Given the description of an element on the screen output the (x, y) to click on. 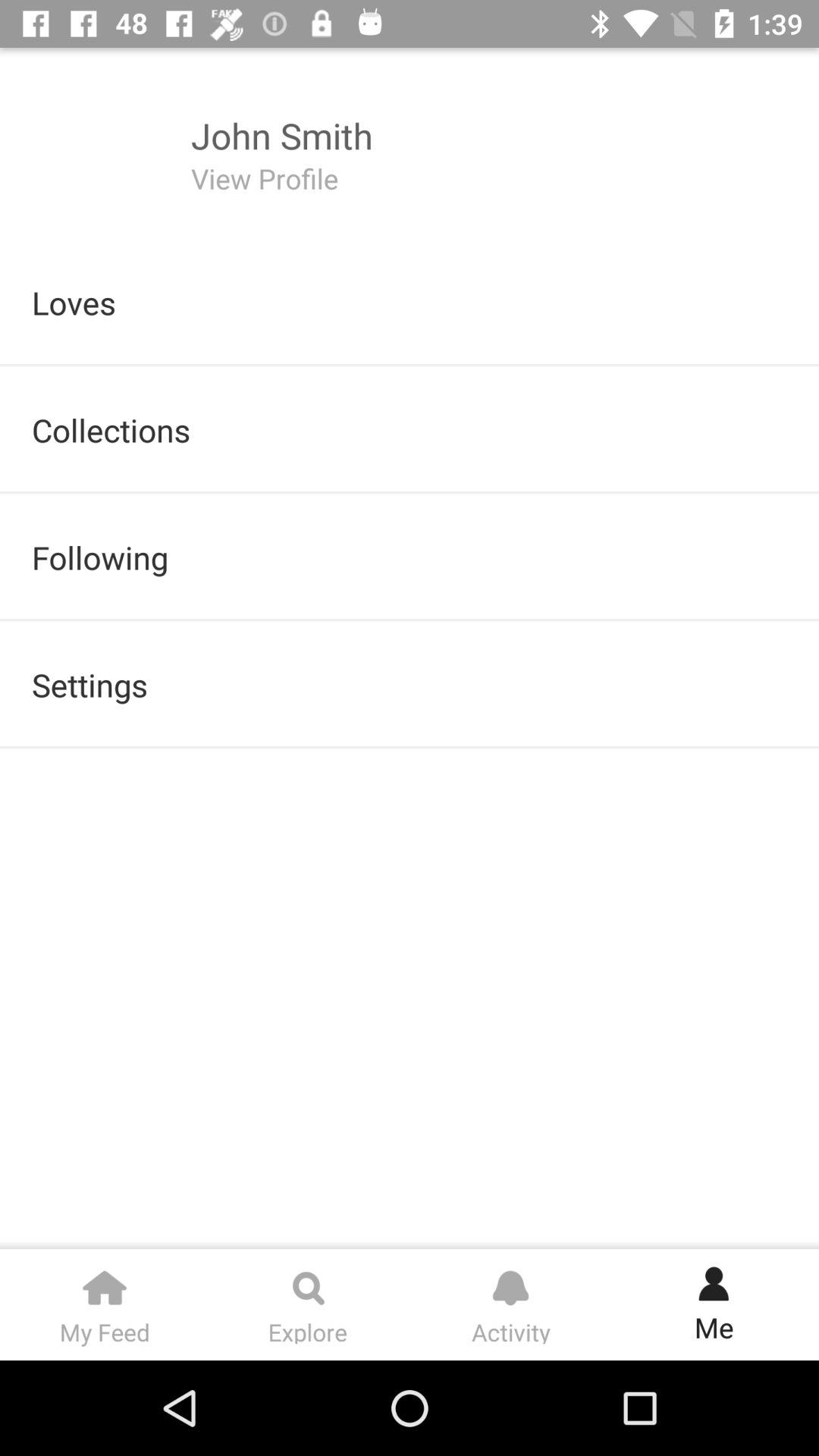
select the icon left to the text john smith (94, 143)
click on the activity button image (510, 1281)
